Given the description of an element on the screen output the (x, y) to click on. 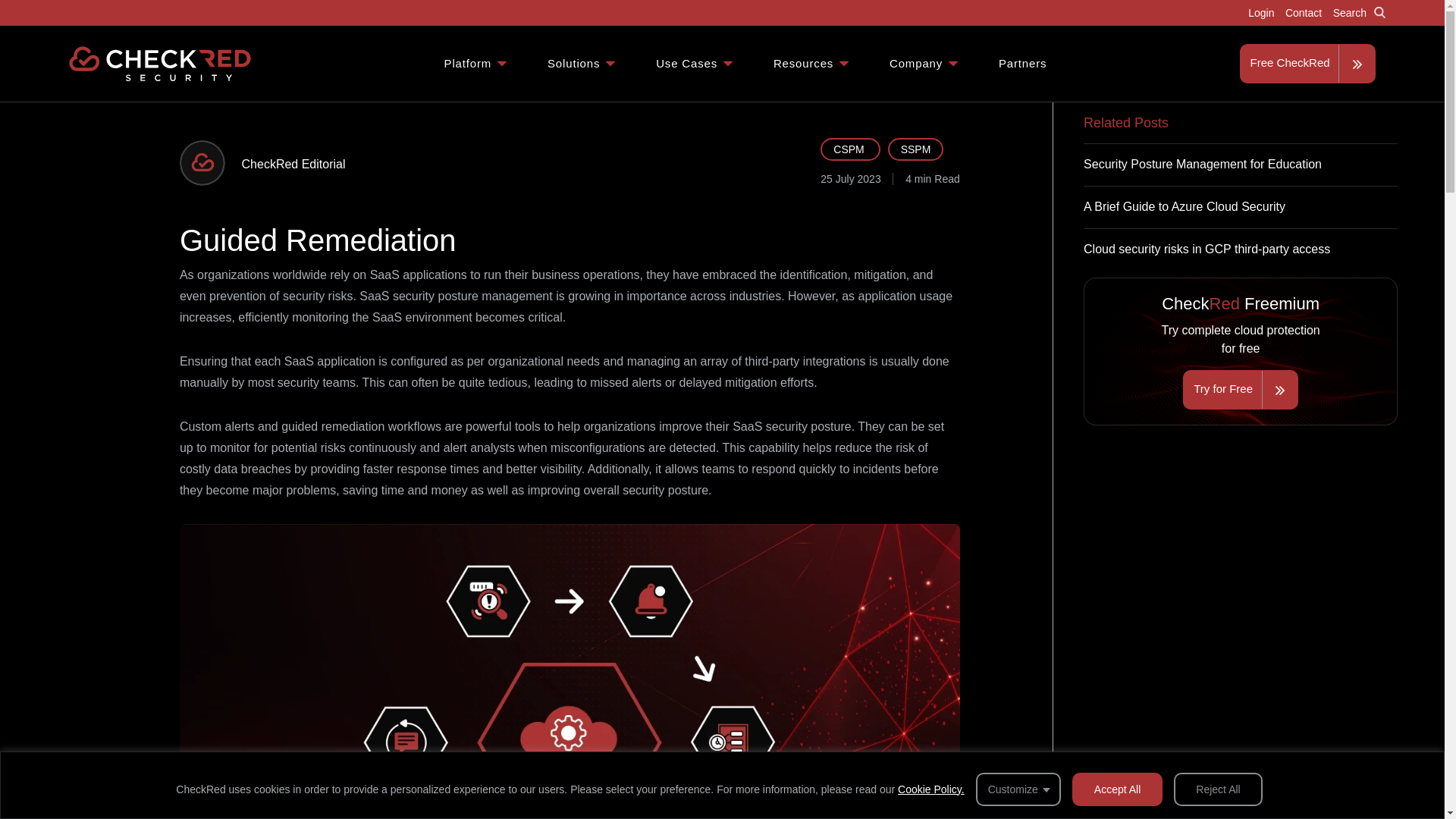
Customize (1018, 788)
Cookie Policy. (930, 788)
Platform (475, 63)
Accept All (1116, 788)
Search (1357, 12)
Login (1261, 12)
Reject All (1217, 788)
Solutions (582, 63)
Contact (1302, 12)
